Given the description of an element on the screen output the (x, y) to click on. 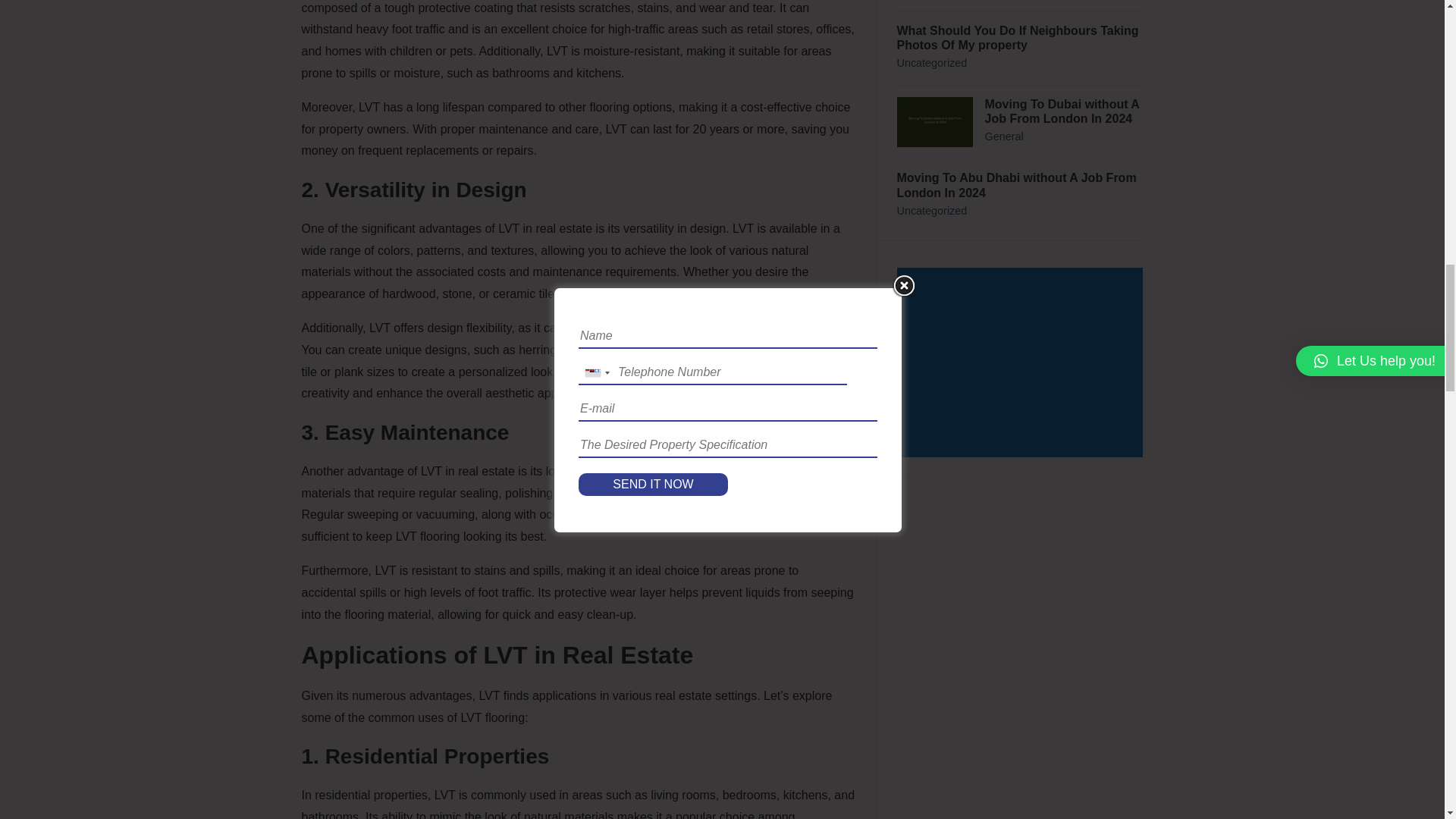
Advertisement (1022, 363)
